Given the description of an element on the screen output the (x, y) to click on. 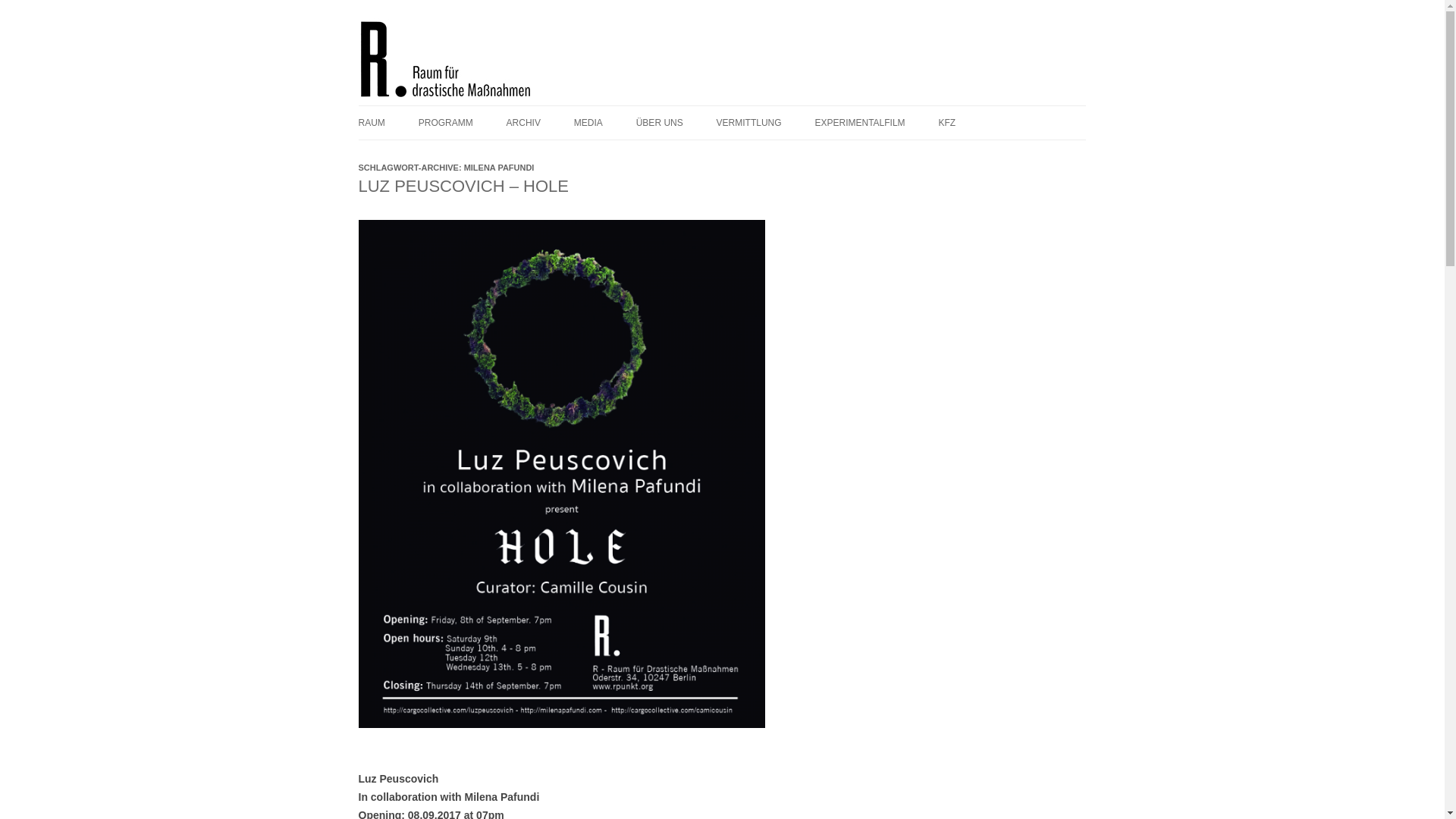
Springe zum Inhalt (766, 110)
ARCHIV (523, 122)
Springe zum Inhalt (766, 110)
PROGRAMM (446, 122)
VERMITTLUNG (748, 122)
EXPERIMENTALFILM (858, 122)
